Given the description of an element on the screen output the (x, y) to click on. 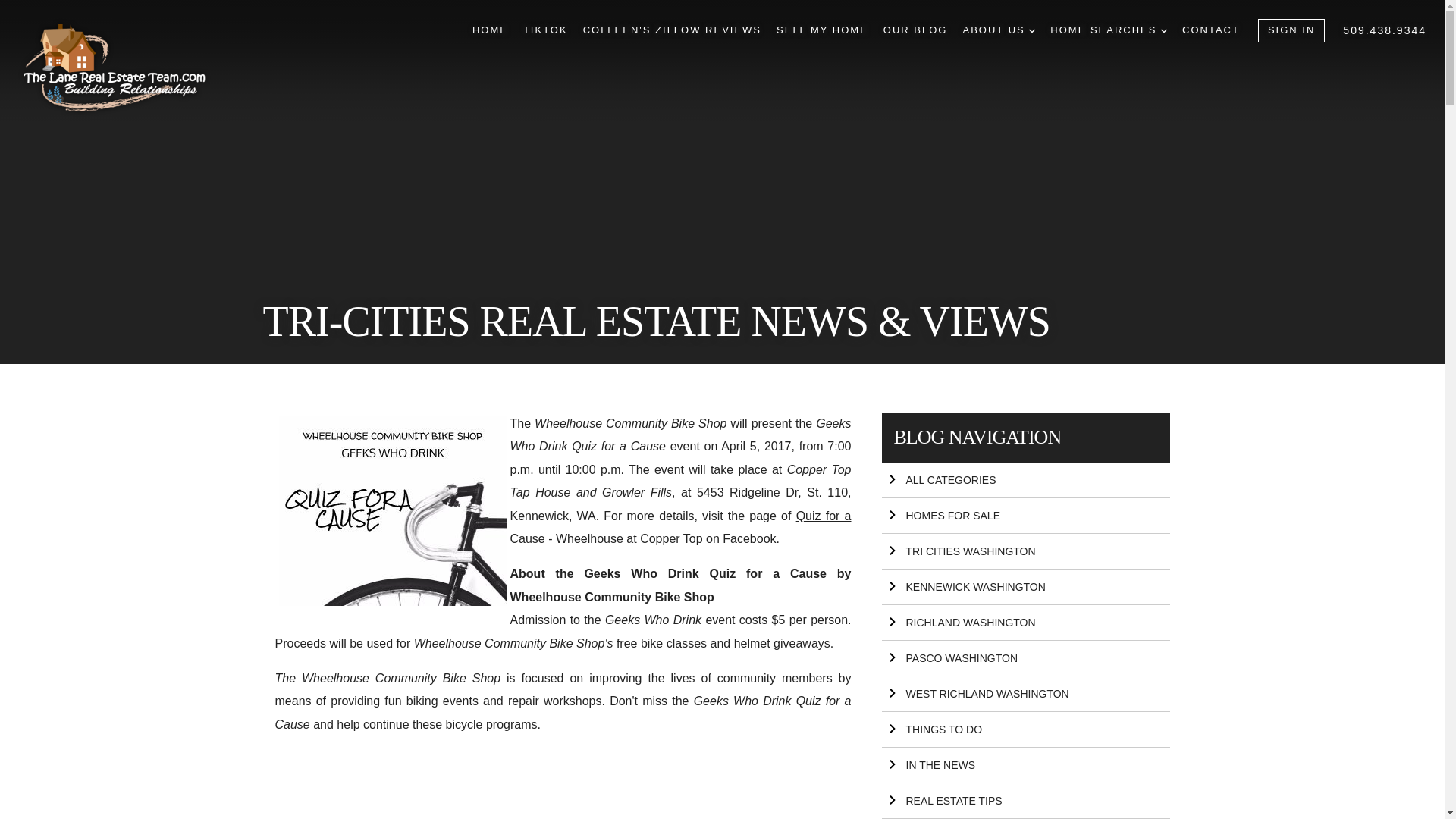
COLLEEN'S ZILLOW REVIEWS (672, 30)
ABOUT US DROPDOWN ARROW (998, 30)
CONTACT (1211, 30)
DROPDOWN ARROW (1032, 30)
SELL MY HOME (821, 30)
HOME SEARCHES DROPDOWN ARROW (1108, 30)
TIKTOK (544, 30)
HOME (489, 30)
DROPDOWN ARROW (1163, 30)
OUR BLOG (915, 30)
